Given the description of an element on the screen output the (x, y) to click on. 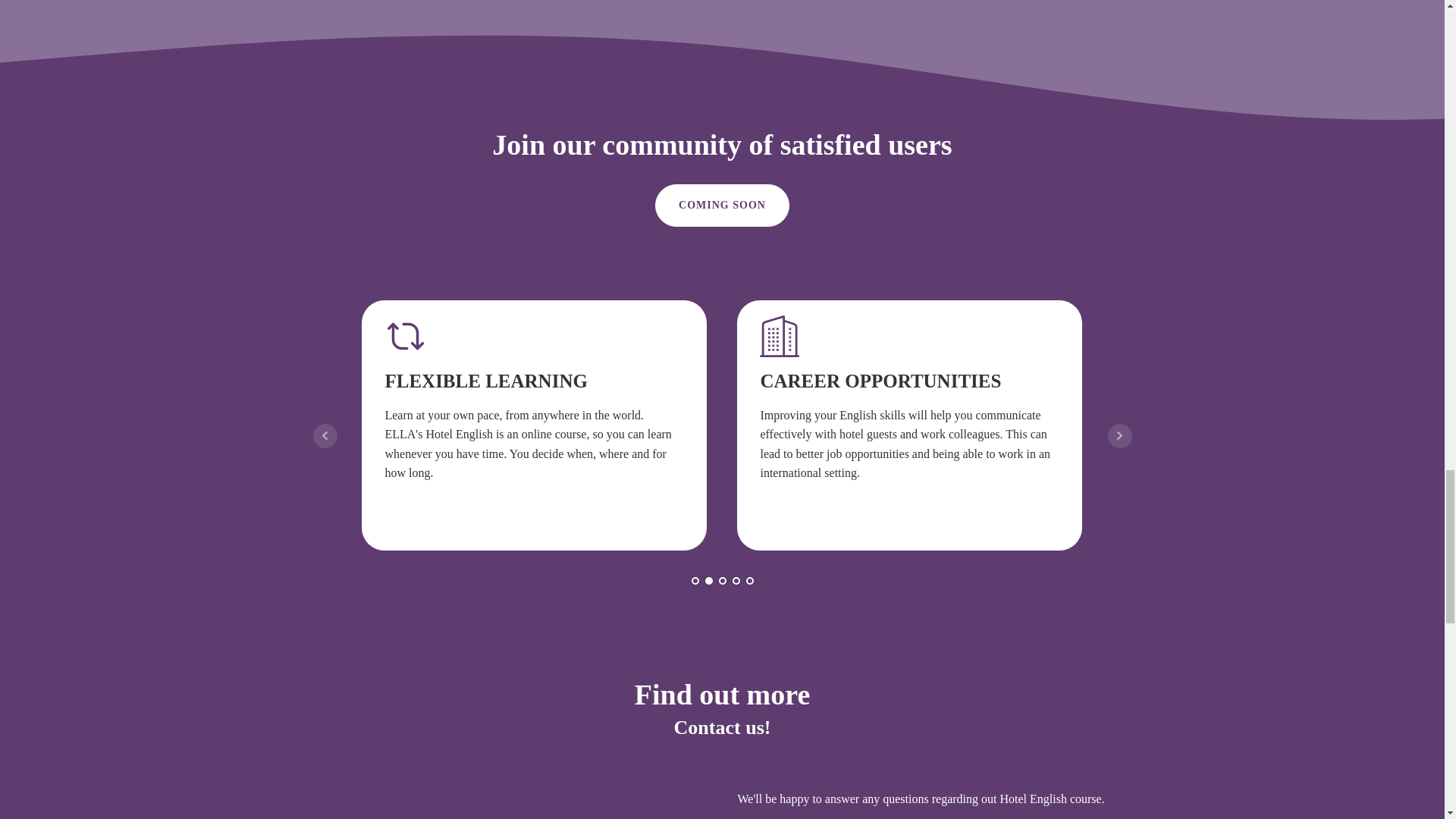
Prev (324, 435)
Next (1118, 435)
